Given the description of an element on the screen output the (x, y) to click on. 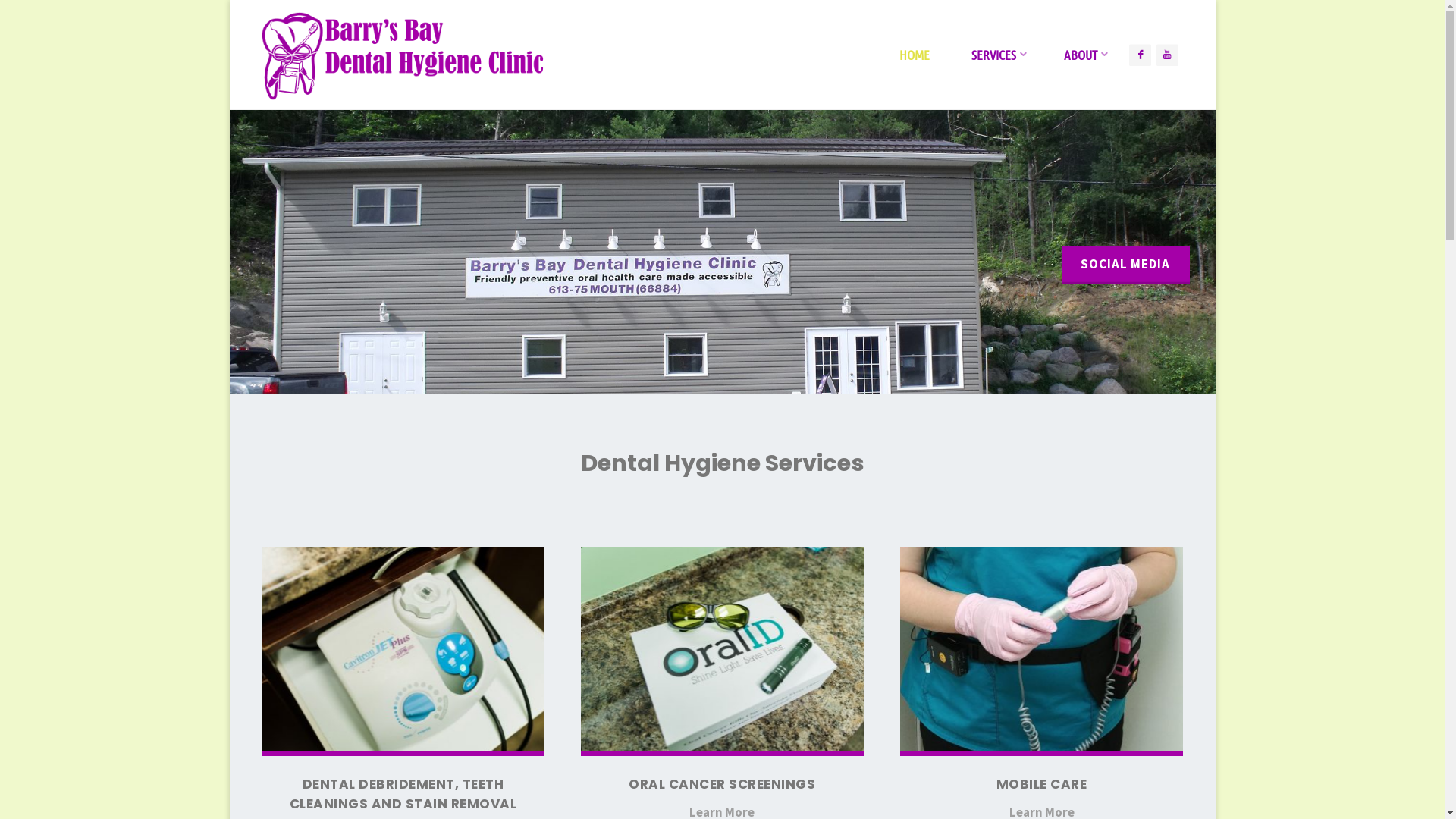
Facebook Element type: hover (1140, 54)
SERVICES Element type: text (996, 54)
MOBILE CARE Element type: text (1041, 784)
Barry's Bay Dental Hygene Clinic Element type: hover (405, 54)
Mobile Care Element type: text (1041, 650)
SOCIAL MEDIA Element type: text (1125, 264)
ORAL CANCER SCREENINGS Element type: text (721, 784)
Dental Debridement, Teeth Cleanings and Stain Removal Element type: text (402, 650)
DENTAL DEBRIDEMENT, TEETH CLEANINGS AND STAIN REMOVAL Element type: text (403, 793)
ABOUT Element type: text (1082, 54)
YouTube Element type: hover (1167, 54)
Oral Cancer Screenings Element type: text (721, 650)
HOME Element type: text (914, 54)
